Given the description of an element on the screen output the (x, y) to click on. 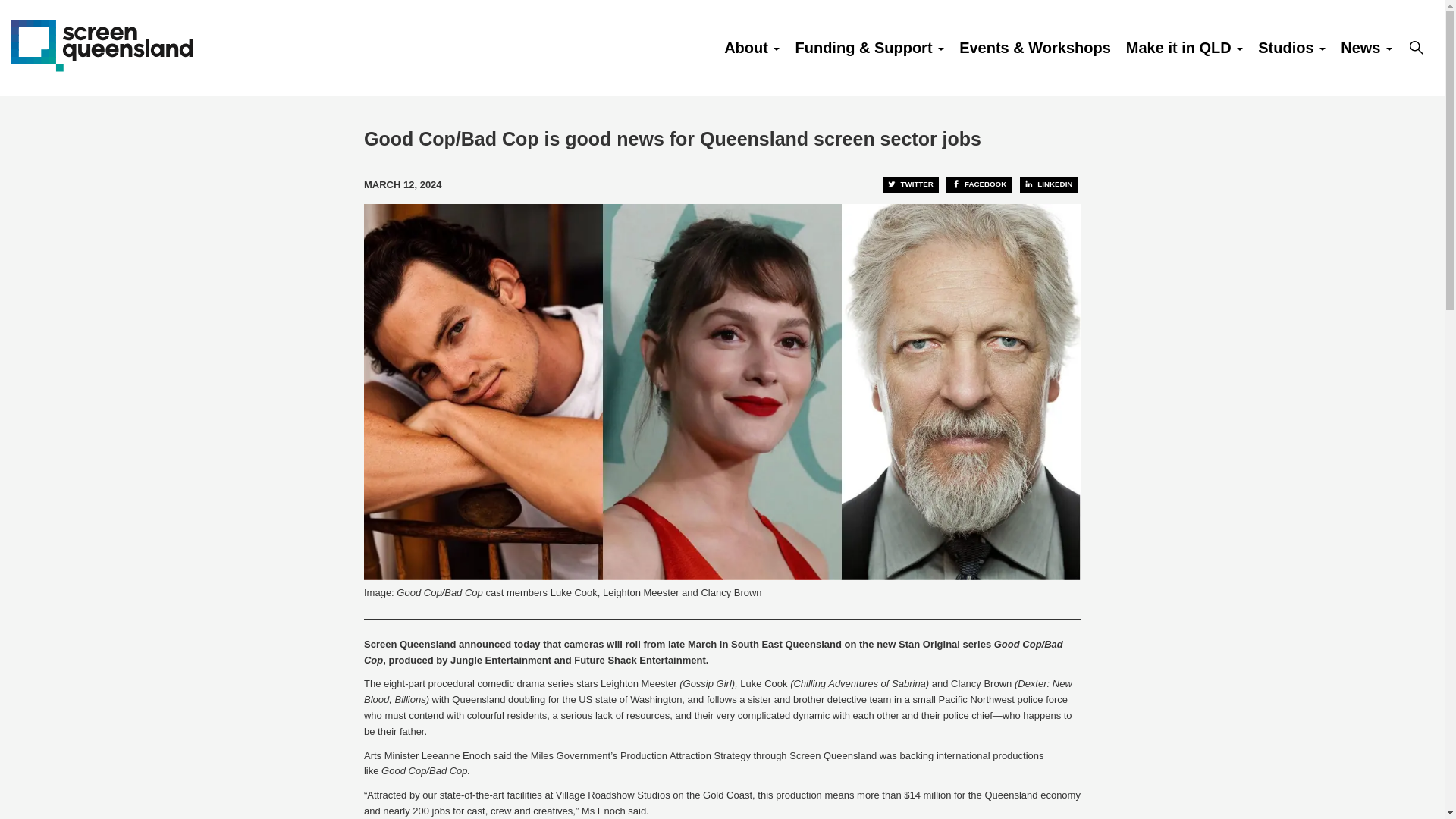
About (751, 47)
About (751, 47)
screen queensland (102, 43)
Make it in QLD (1184, 47)
